Given the description of an element on the screen output the (x, y) to click on. 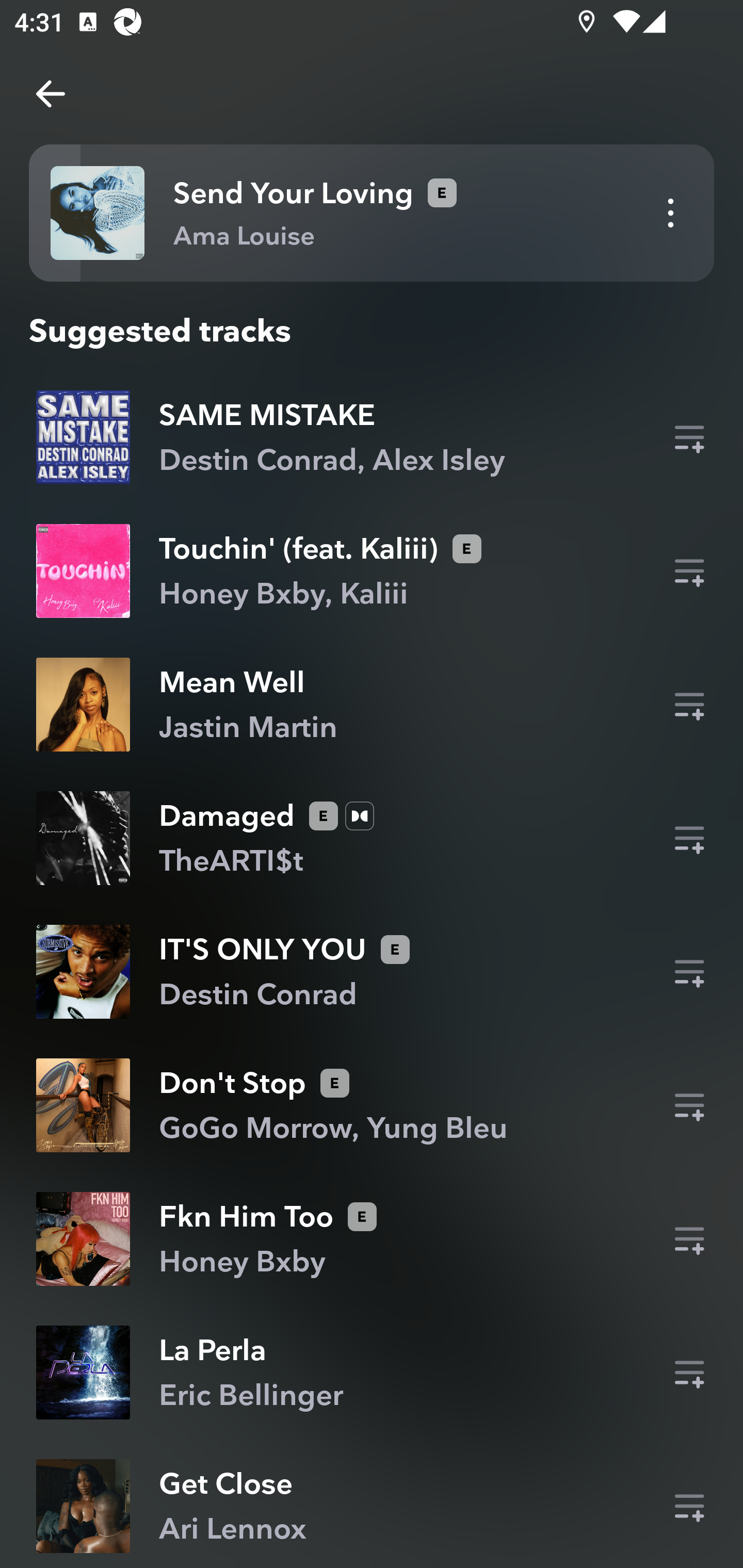
Send Your Loving Ama Louise (371, 213)
SAME MISTAKE Destin Conrad, Alex Isley (371, 437)
Touchin' (feat. Kaliii) Honey Bxby, Kaliii (371, 570)
Mean Well Jastin Martin (371, 704)
Damaged TheARTI$t (371, 837)
IT'S ONLY YOU Destin Conrad (371, 972)
Don't Stop GoGo Morrow, Yung Bleu (371, 1105)
Fkn Him Too Honey Bxby (371, 1238)
La Perla Eric Bellinger (371, 1371)
Get Close Ari Lennox (371, 1505)
